Given the description of an element on the screen output the (x, y) to click on. 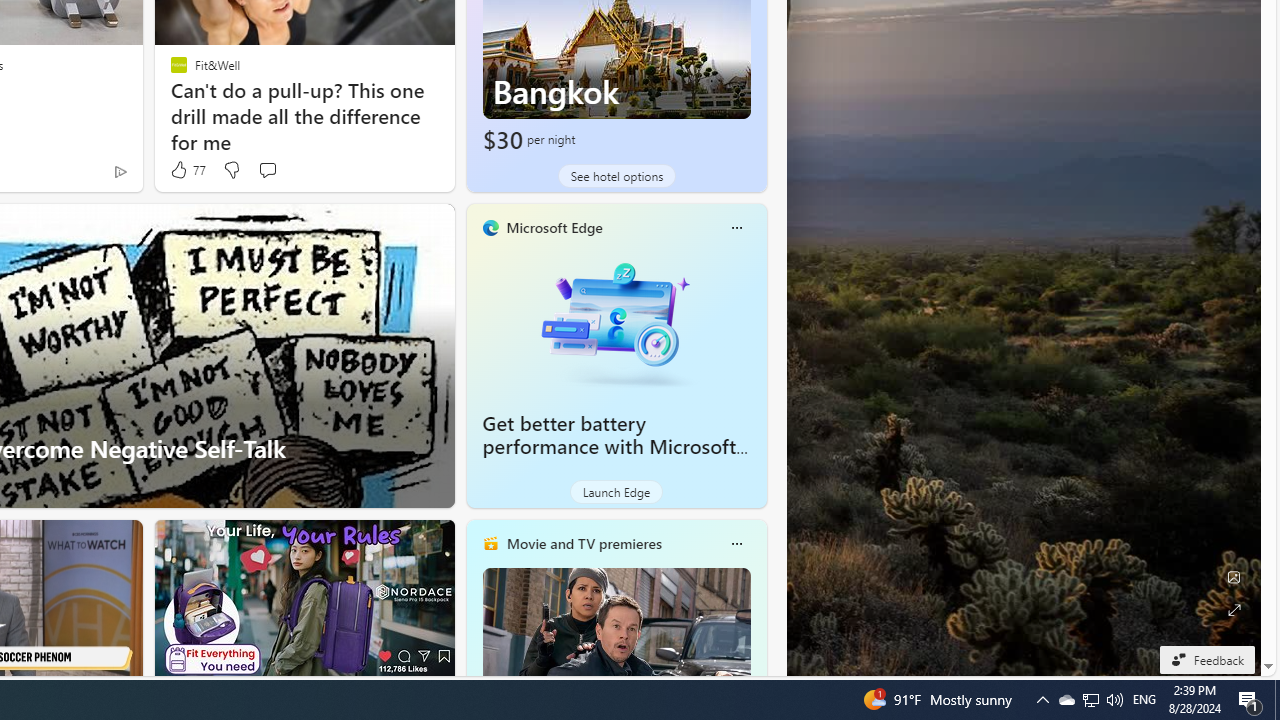
Edit Background (1233, 577)
Launch Edge (616, 491)
